Given the description of an element on the screen output the (x, y) to click on. 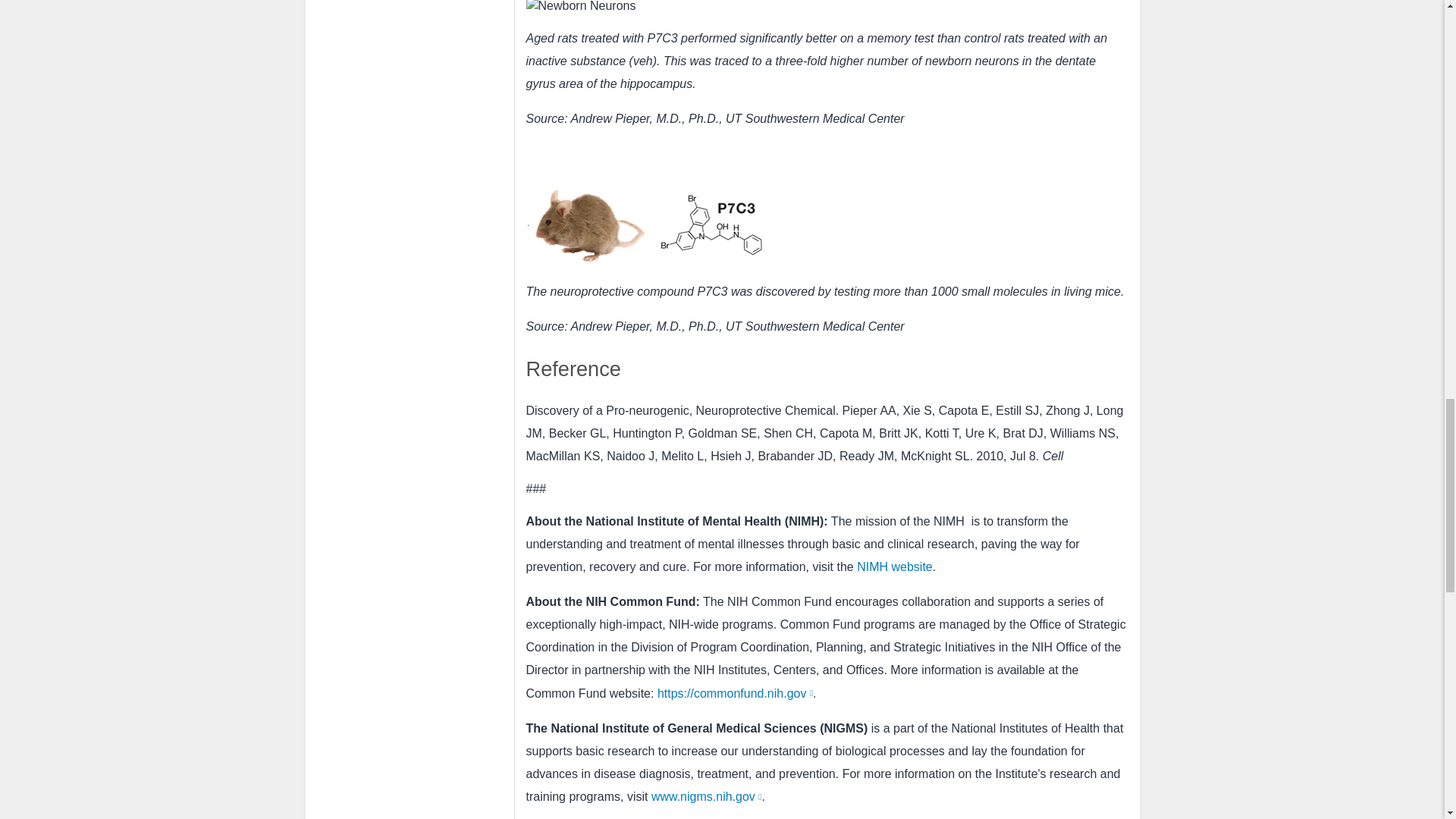
National Institute of Mental Health (950, 521)
